Given the description of an element on the screen output the (x, y) to click on. 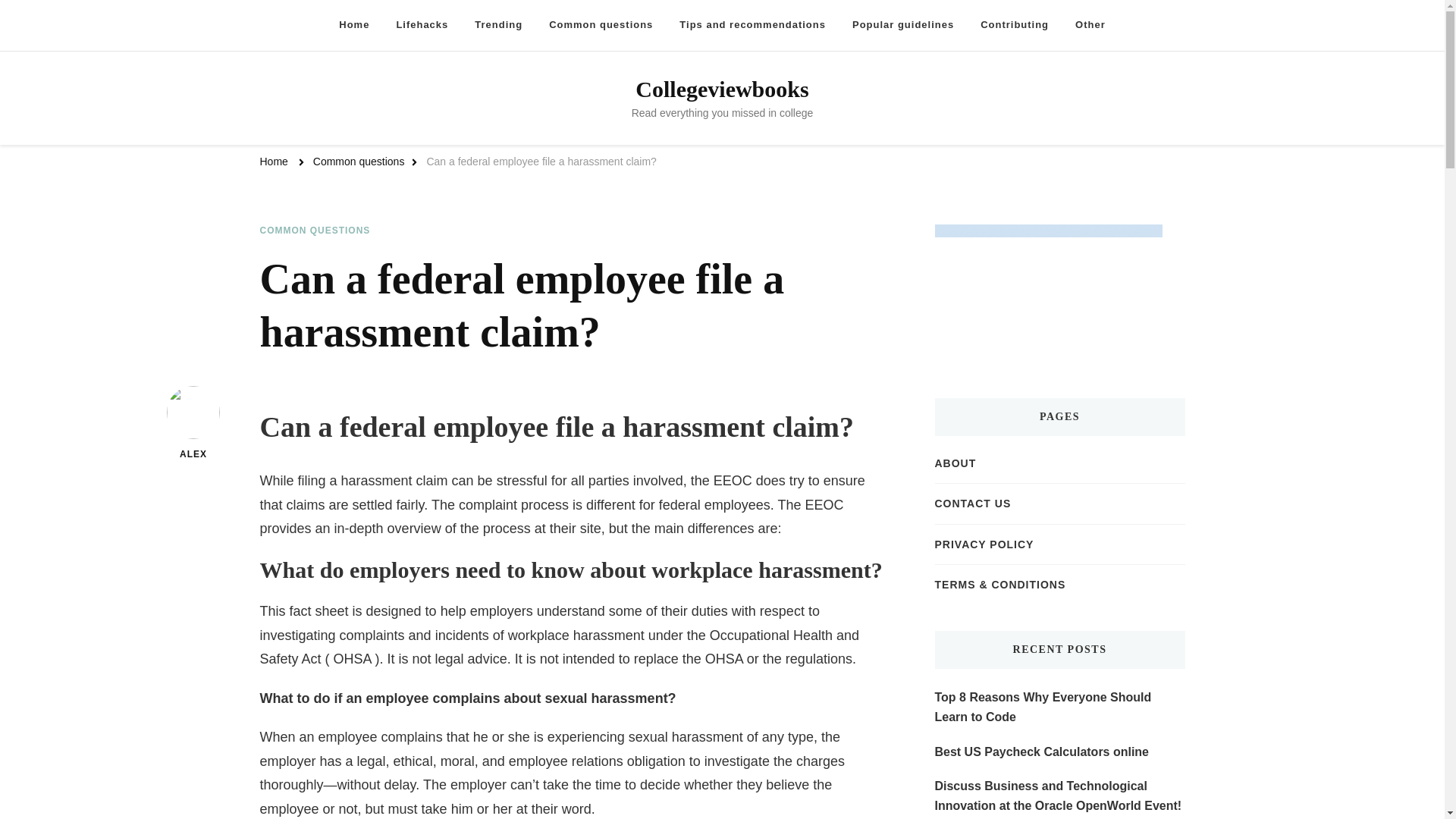
COMMON QUESTIONS (314, 231)
CONTACT US (972, 503)
Contributing (1014, 25)
ABOUT (954, 463)
Popular guidelines (903, 25)
WhatsApp (5, 180)
Lifehacks (422, 25)
PRIVACY POLICY (983, 544)
Twitter (5, 150)
Top 8 Reasons Why Everyone Should Learn to Code (1059, 706)
